Given the description of an element on the screen output the (x, y) to click on. 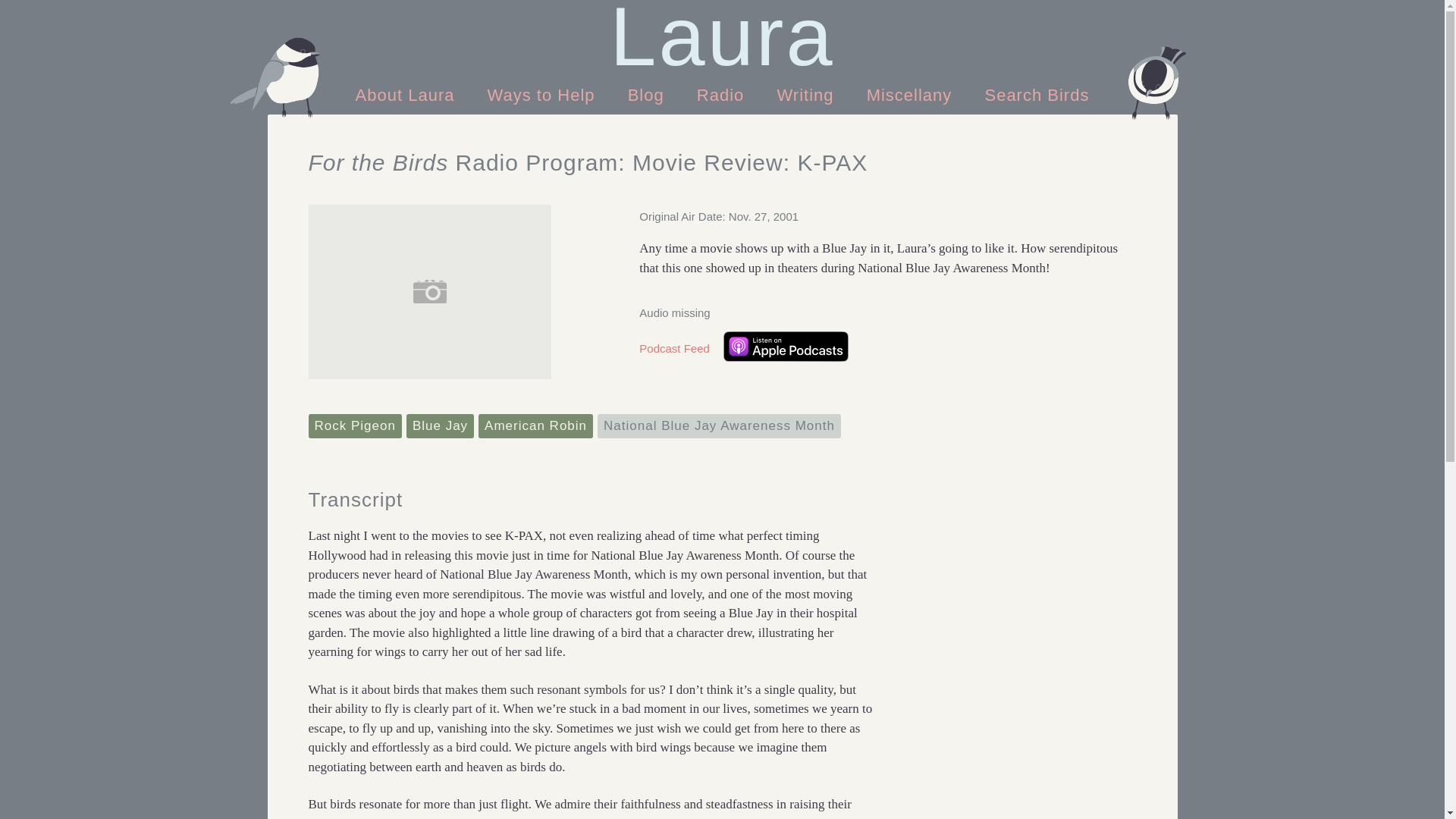
Miscellany (909, 94)
Radio (722, 94)
About Laura (408, 94)
Writing (804, 94)
Podcast Feed (674, 348)
Laura Erickson's For the Birds (721, 36)
Search Birds (1036, 94)
Ways to Help (544, 94)
Blog (646, 94)
American Robin (535, 426)
Rock Pigeon (354, 426)
Blue Jay (440, 426)
